Given the description of an element on the screen output the (x, y) to click on. 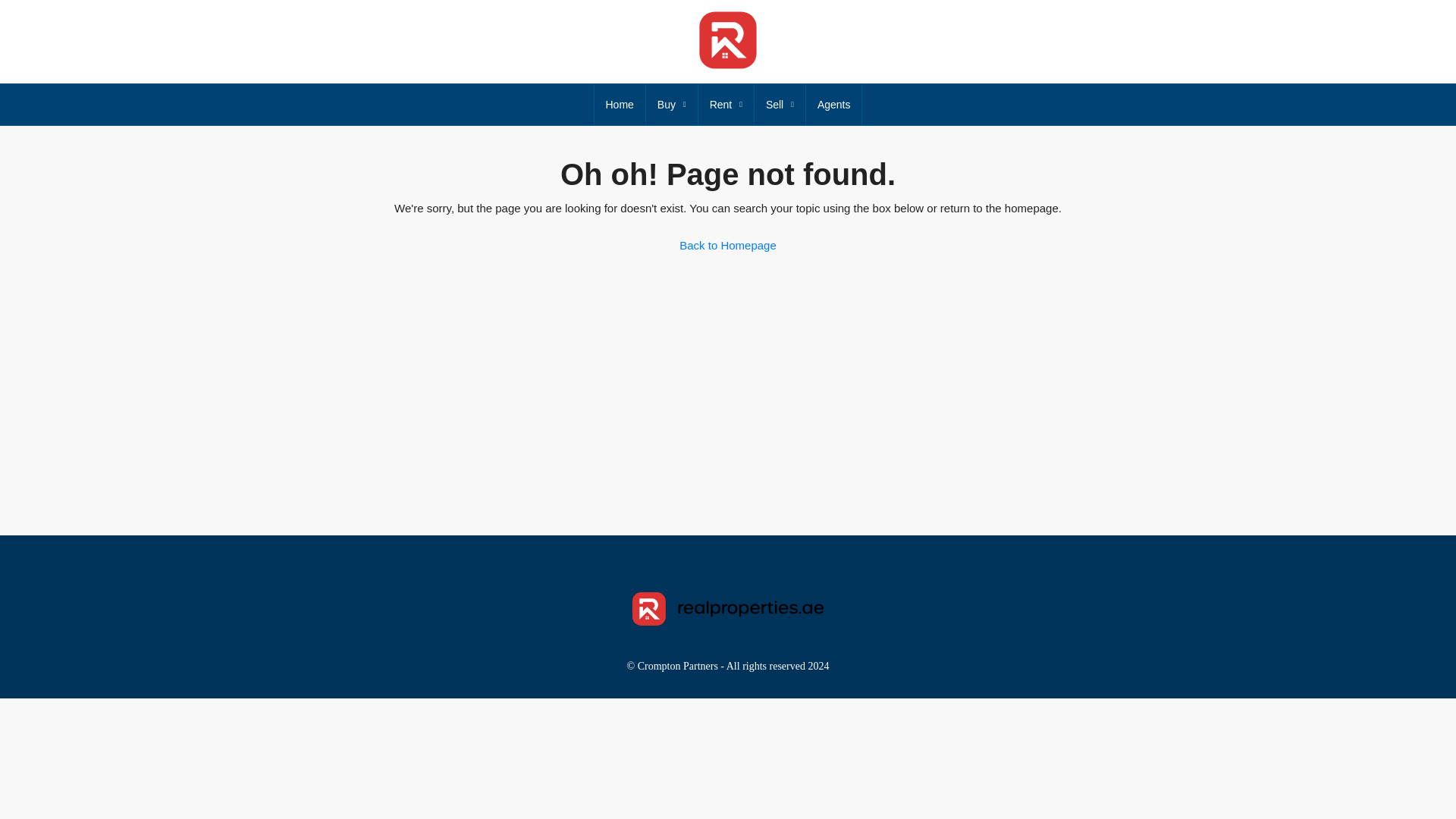
Home (619, 104)
Sell (779, 104)
Buy (671, 104)
Back to Homepage (727, 245)
Agents (833, 104)
Rent (726, 104)
